Given the description of an element on the screen output the (x, y) to click on. 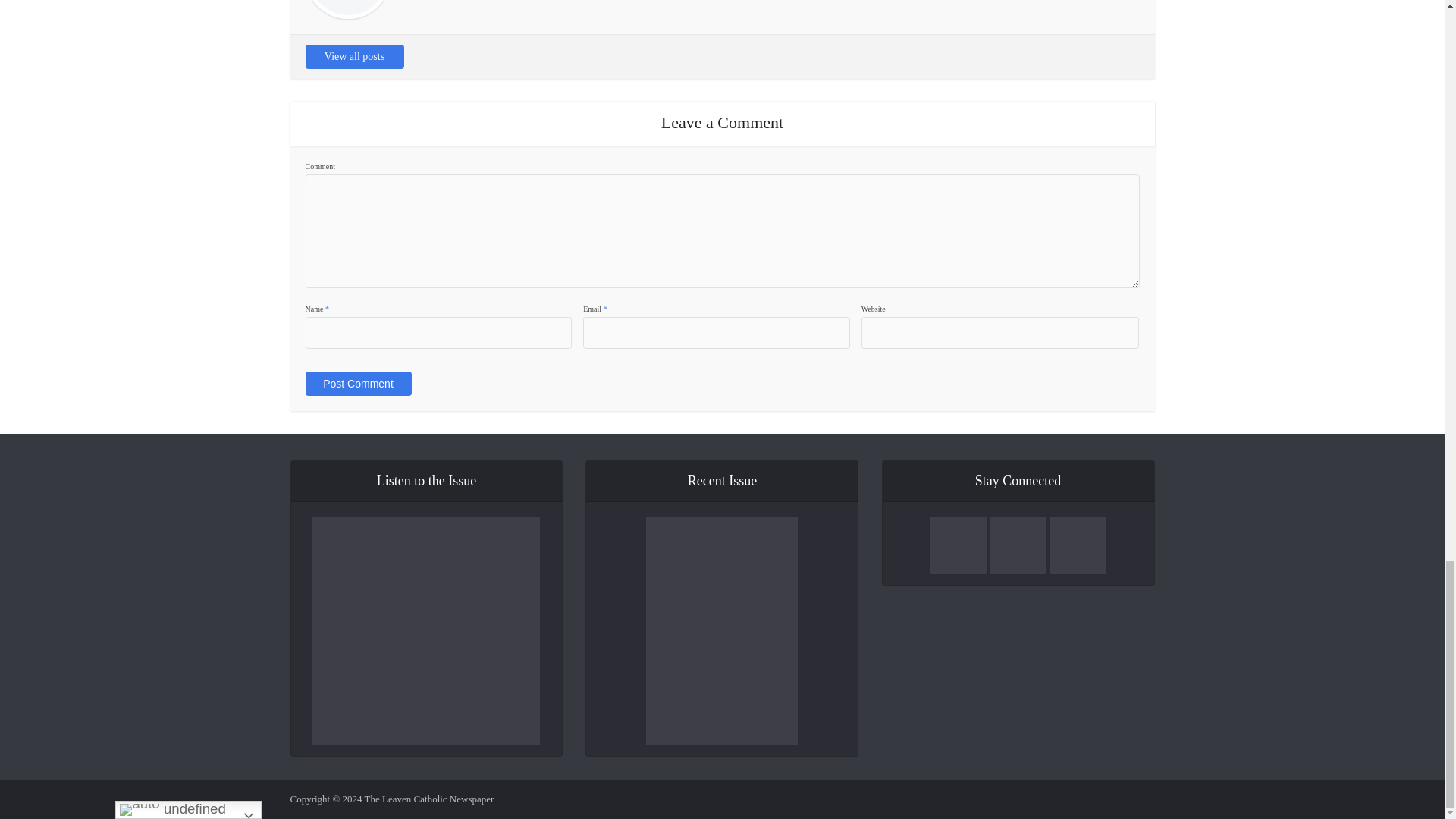
Post Comment (357, 383)
